Given the description of an element on the screen output the (x, y) to click on. 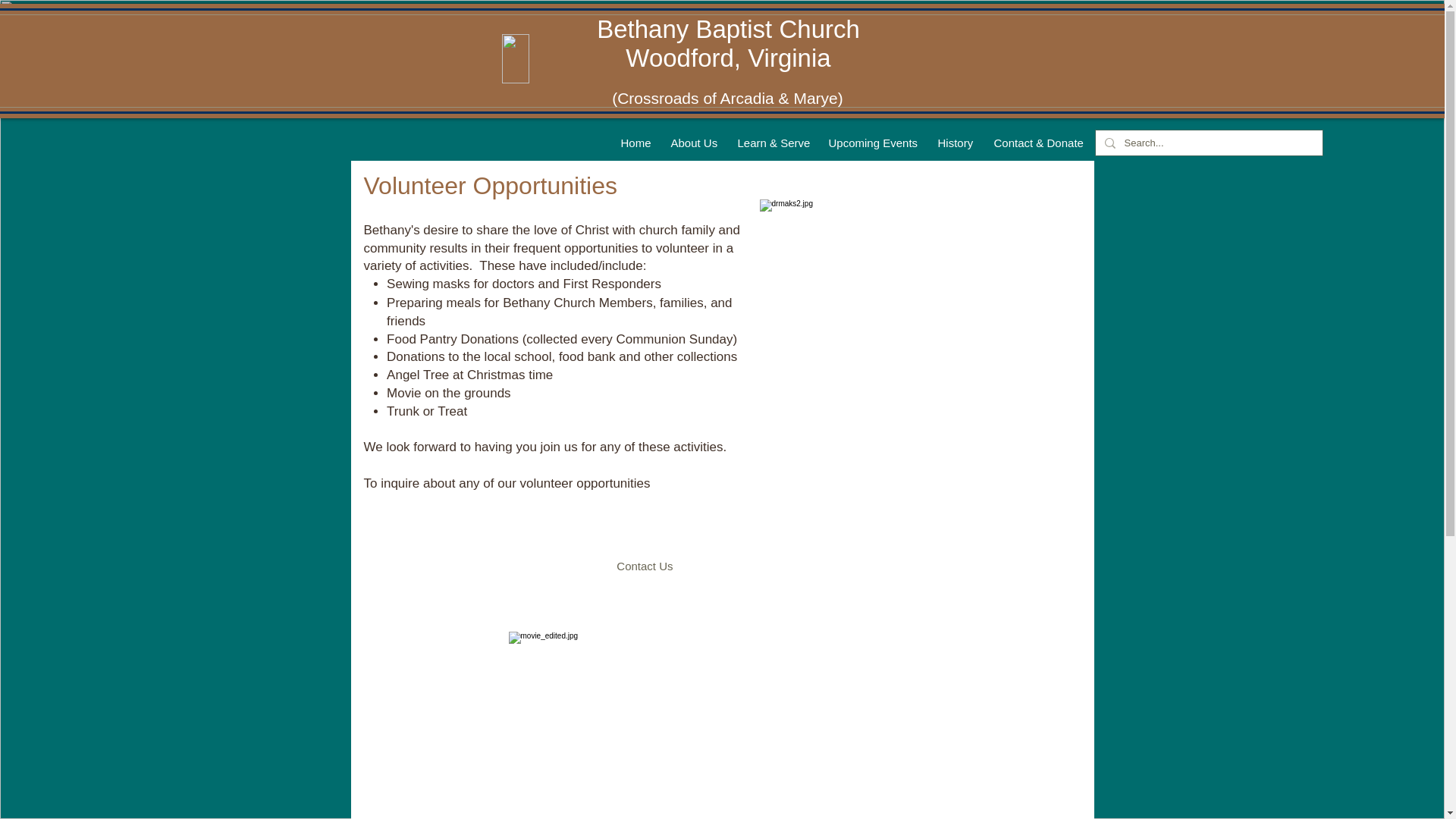
Woodford, Virginia (727, 58)
Contact Us (643, 565)
Home (636, 142)
About Us (694, 142)
Upcoming Events (873, 142)
Bethany Baptist Church (728, 29)
